Given the description of an element on the screen output the (x, y) to click on. 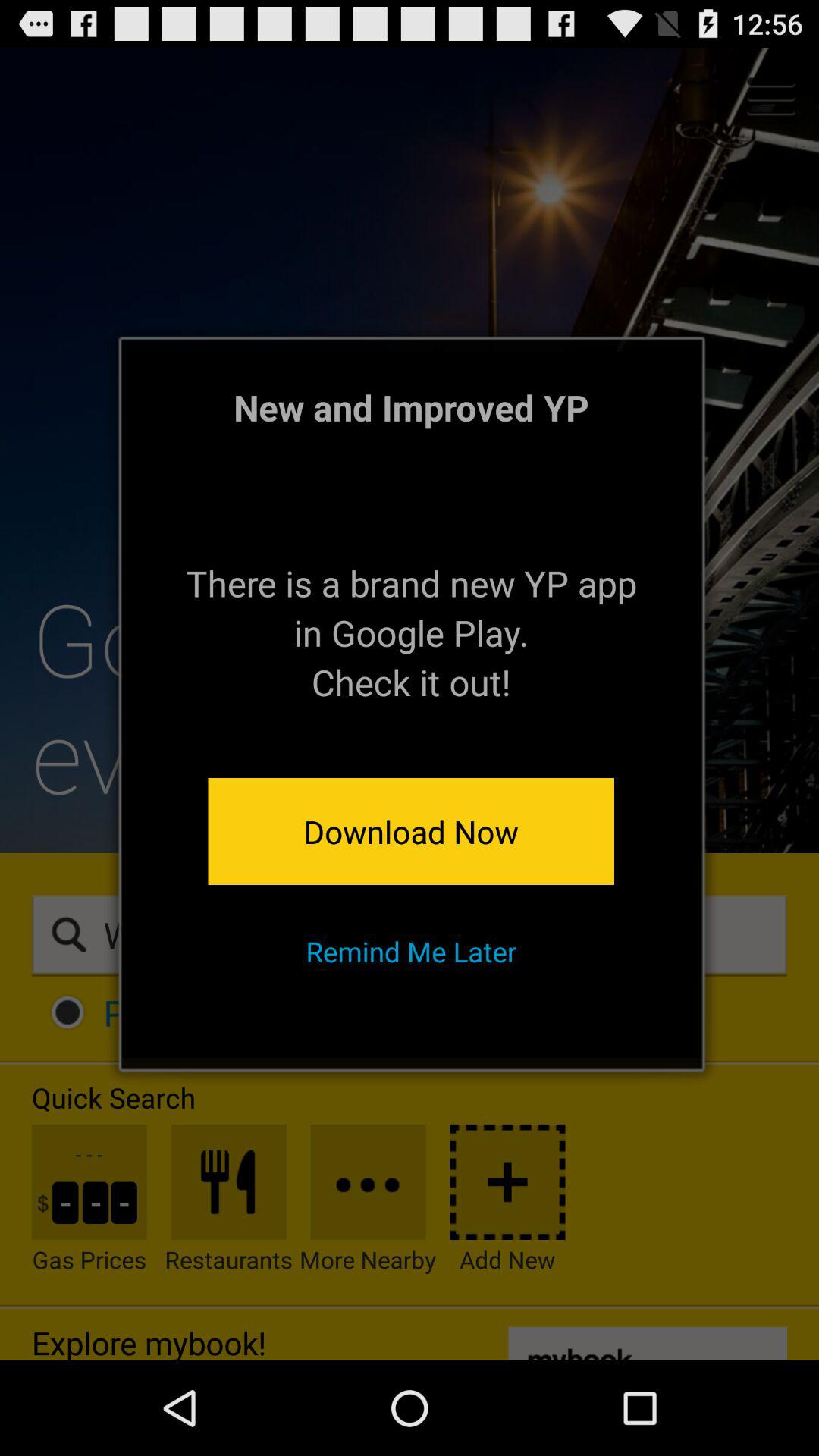
choose item below the download now (411, 951)
